Given the description of an element on the screen output the (x, y) to click on. 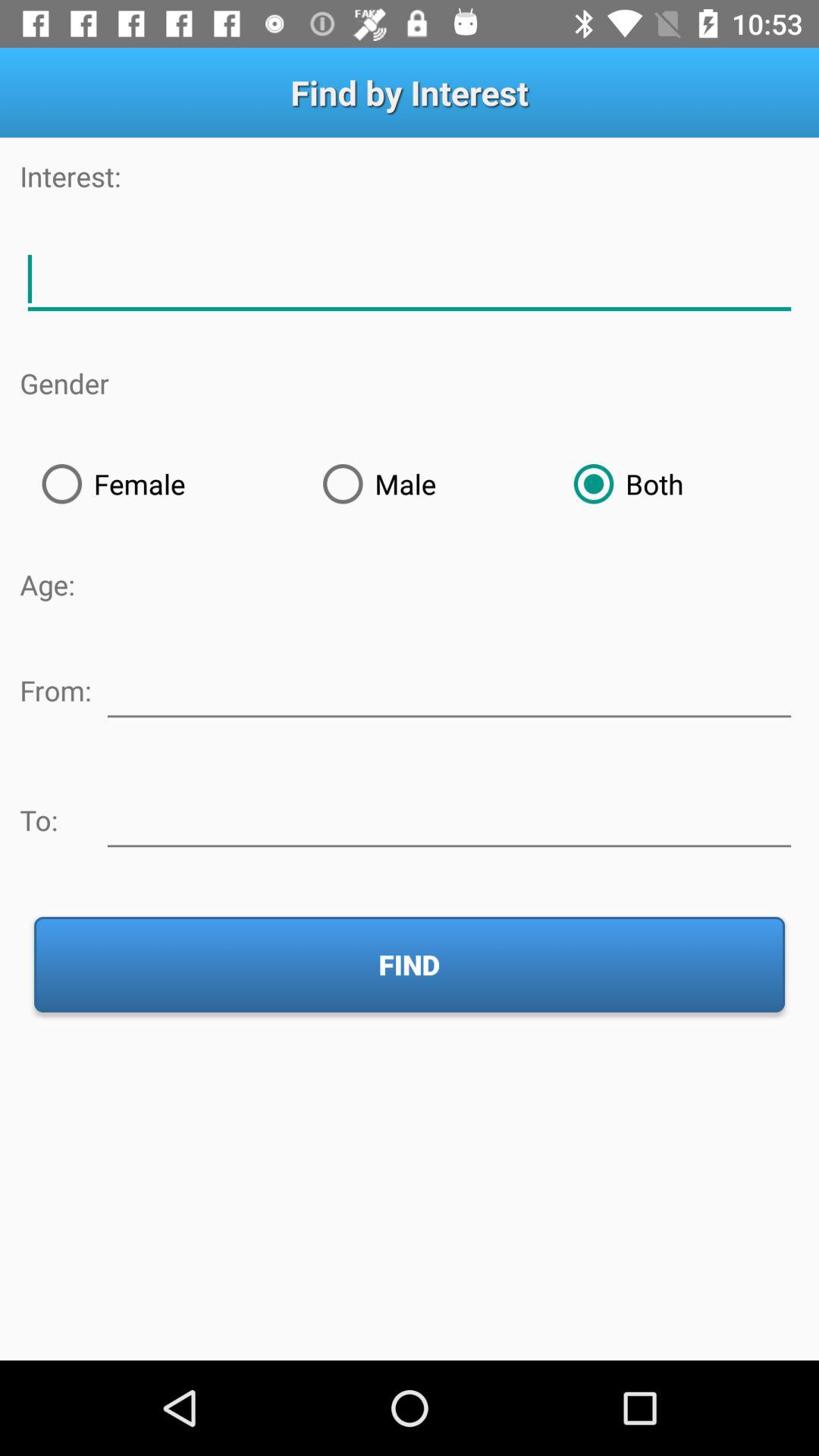
swipe until female item (160, 483)
